Given the description of an element on the screen output the (x, y) to click on. 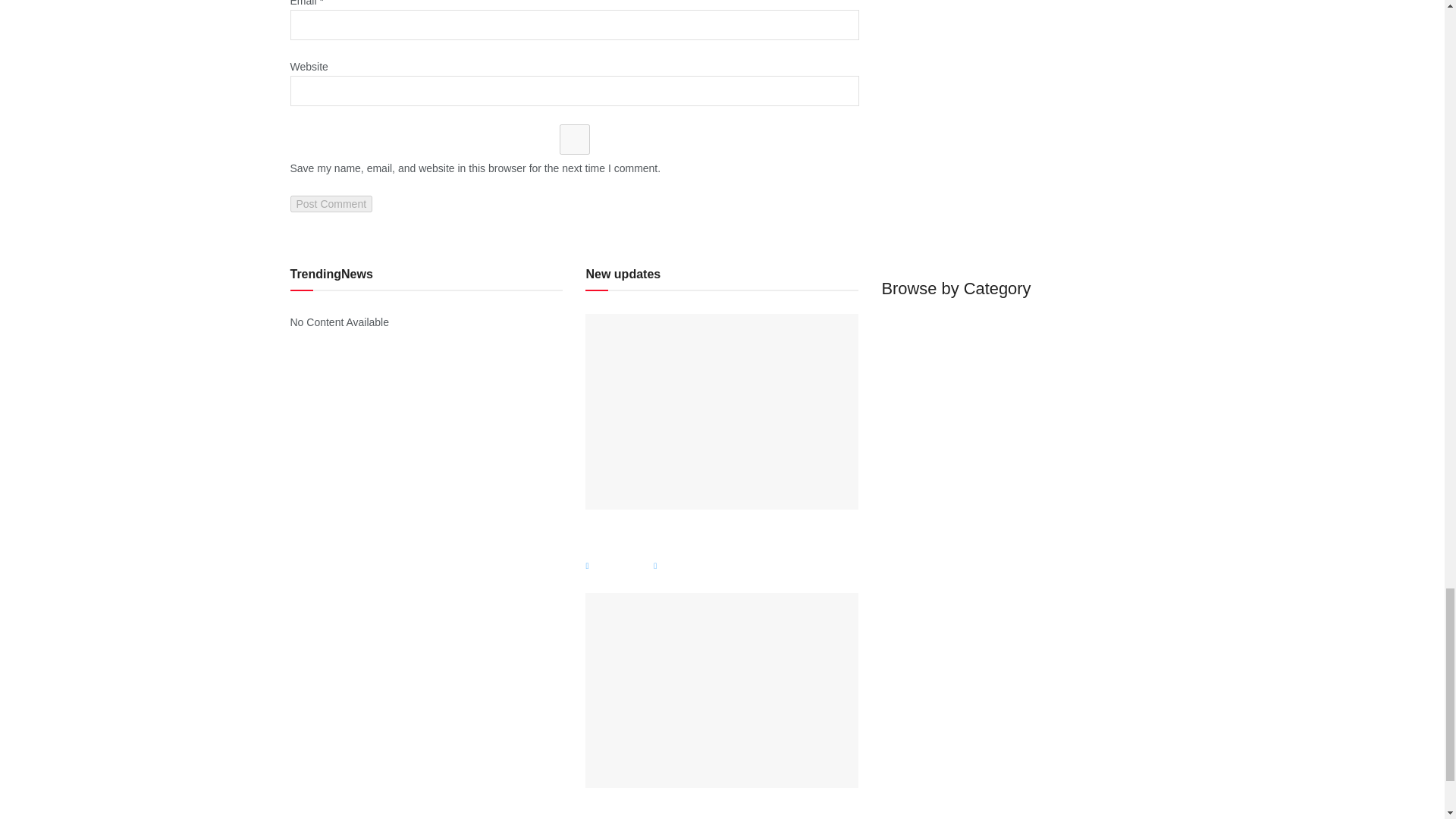
yes (574, 139)
Post Comment (330, 203)
